Given the description of an element on the screen output the (x, y) to click on. 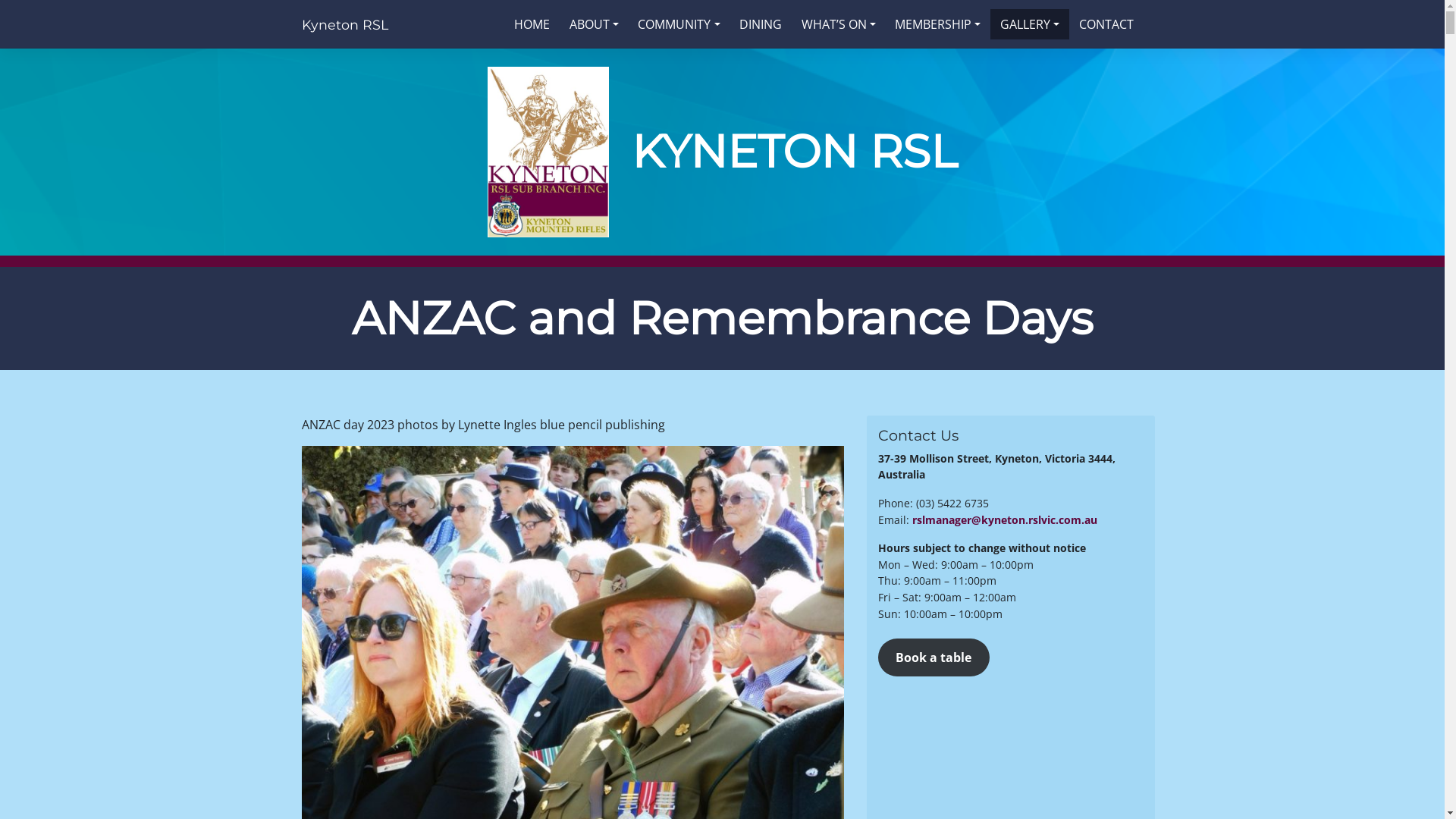
GALLERY Element type: text (1029, 24)
rslmanager@kyneton.rslvic.com.au Element type: text (1003, 519)
Book a table Element type: text (933, 657)
COMMUNITY Element type: text (679, 24)
KYNETON RSL Element type: text (794, 150)
DINING Element type: text (760, 24)
Kyneton RSL Element type: text (344, 24)
CONTACT Element type: text (1106, 24)
HOME Element type: text (531, 24)
ABOUT Element type: text (593, 24)
MEMBERSHIP Element type: text (938, 24)
